Given the description of an element on the screen output the (x, y) to click on. 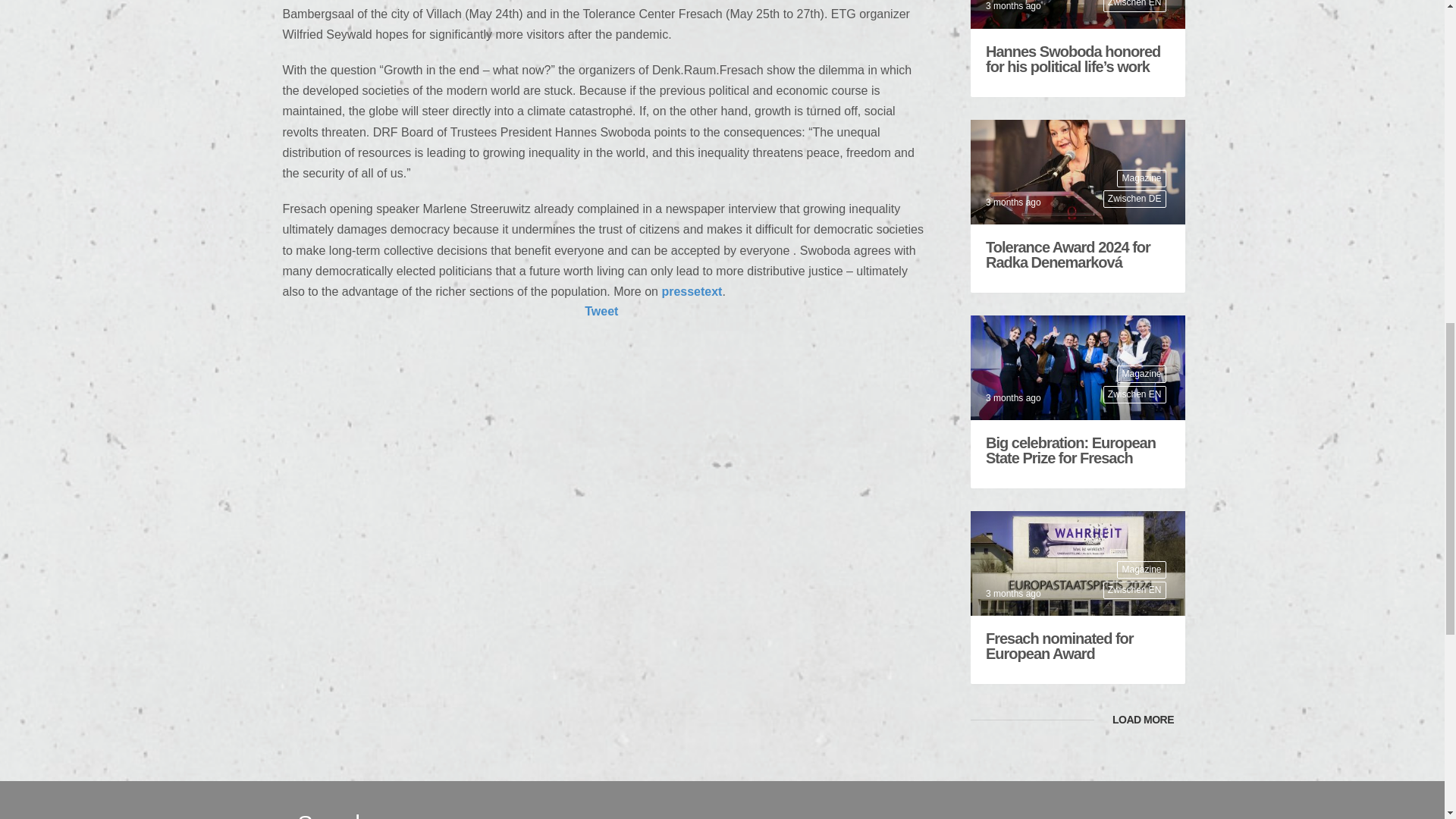
View all posts in Magazine (1141, 178)
View all posts in Zwischen EN (1134, 5)
